Given the description of an element on the screen output the (x, y) to click on. 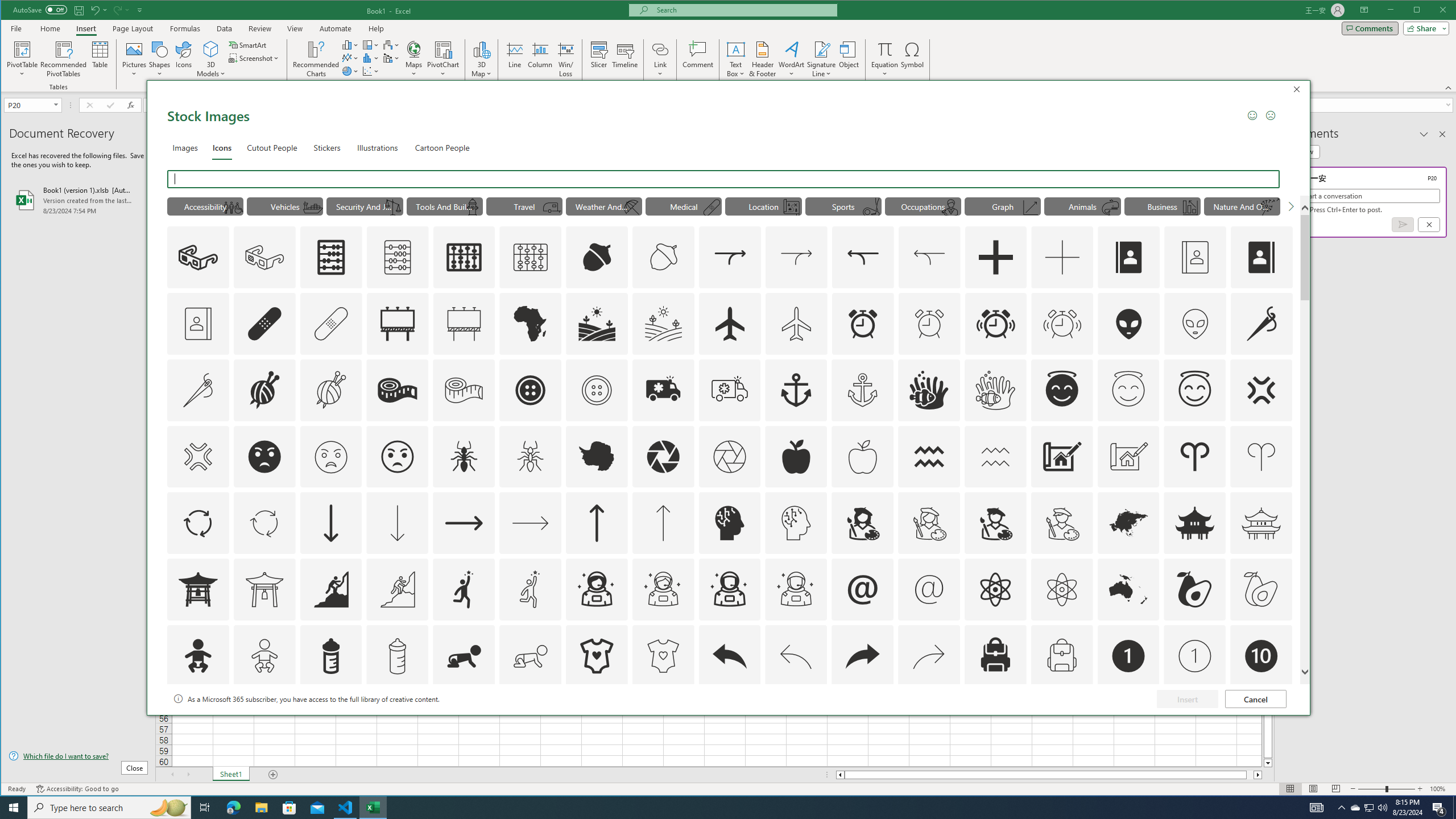
AutomationID: Icons_Acquisition_LTR_M (796, 256)
AutomationID: Icons_ArtistMale_M (1061, 522)
Notification Chevron (1341, 807)
AutomationID: Icons_Badge4 (530, 721)
Header & Footer... (762, 59)
AutomationID: Icons_BabyOnesie (596, 655)
"Tools And Building" Icons. (444, 206)
AutomationID: Icons_AlarmRinging_M (1062, 323)
AutomationID: Icons_AsianTemple1_M (264, 589)
AutomationID: Icons_AstronautMale_M (796, 589)
